Given the description of an element on the screen output the (x, y) to click on. 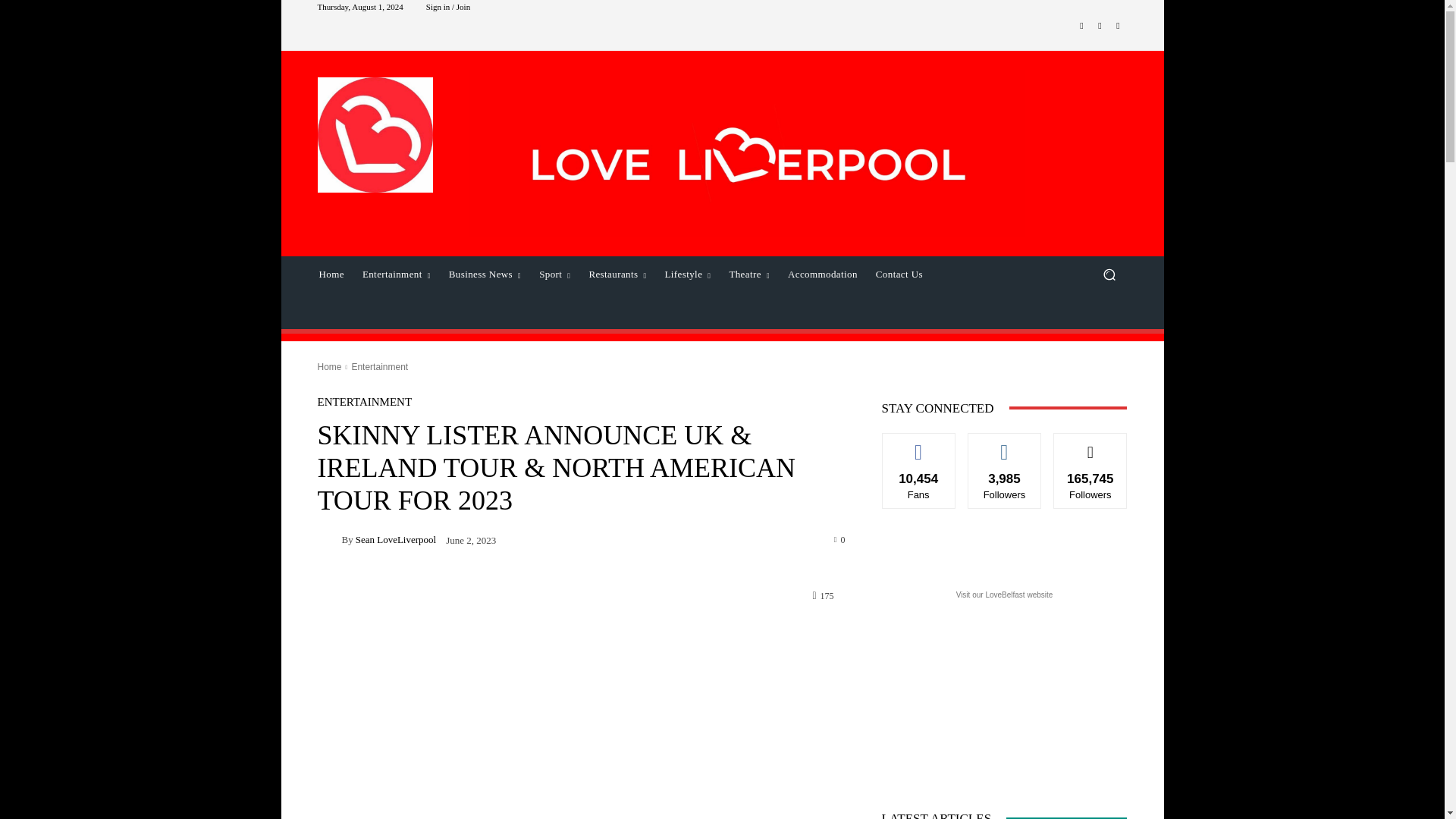
Instagram (1099, 25)
Facebook (1080, 25)
Twitter (1117, 25)
Love Liverpool (374, 134)
Entertainment (396, 274)
Home (330, 274)
